Given the description of an element on the screen output the (x, y) to click on. 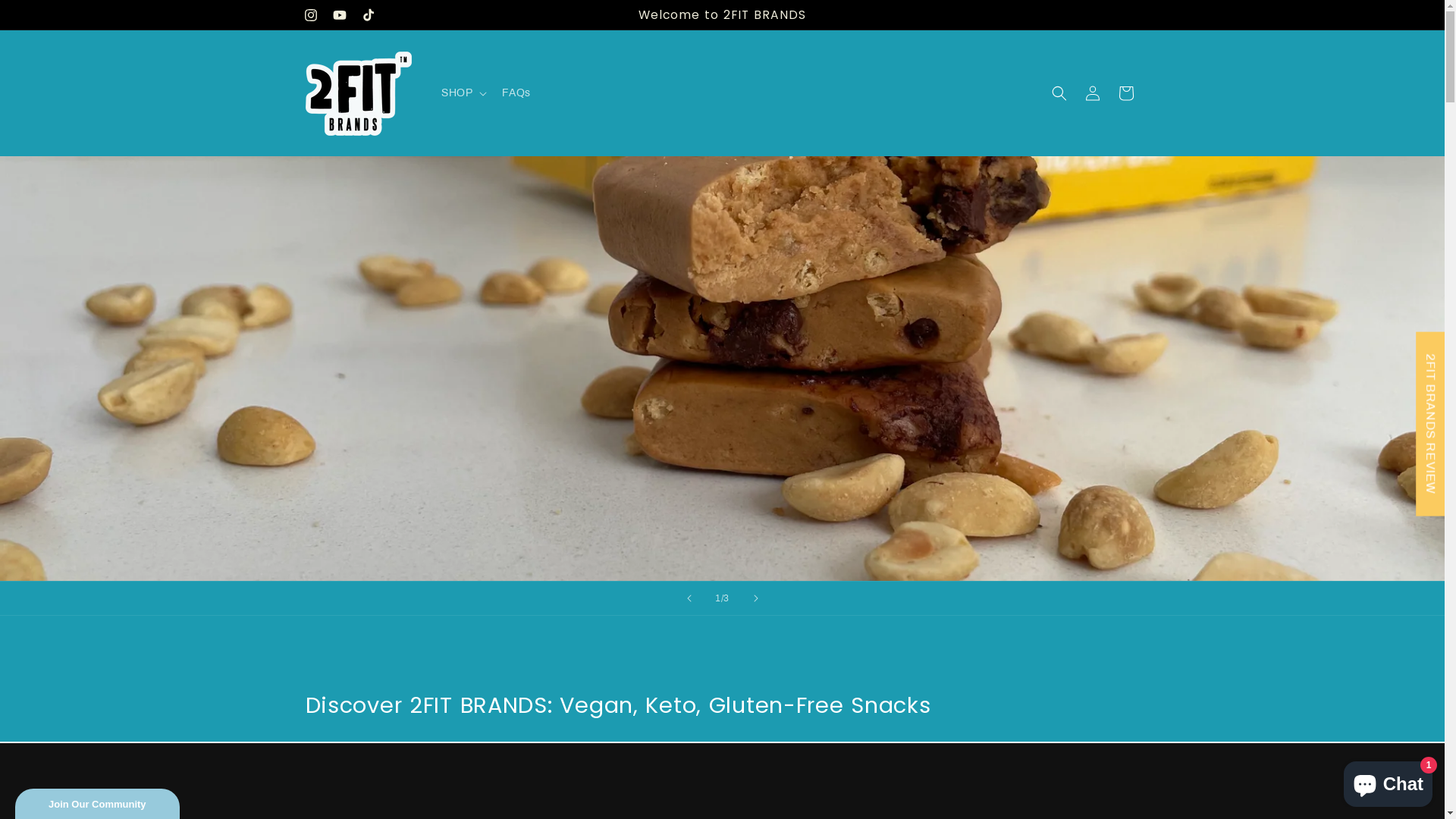
Cart Element type: text (1125, 92)
Instagram Element type: text (309, 14)
Shopify online store chat Element type: hover (1388, 780)
YouTube Element type: text (338, 14)
Log in Element type: text (1091, 92)
FAQs Element type: text (515, 93)
TikTok Element type: text (367, 14)
